Given the description of an element on the screen output the (x, y) to click on. 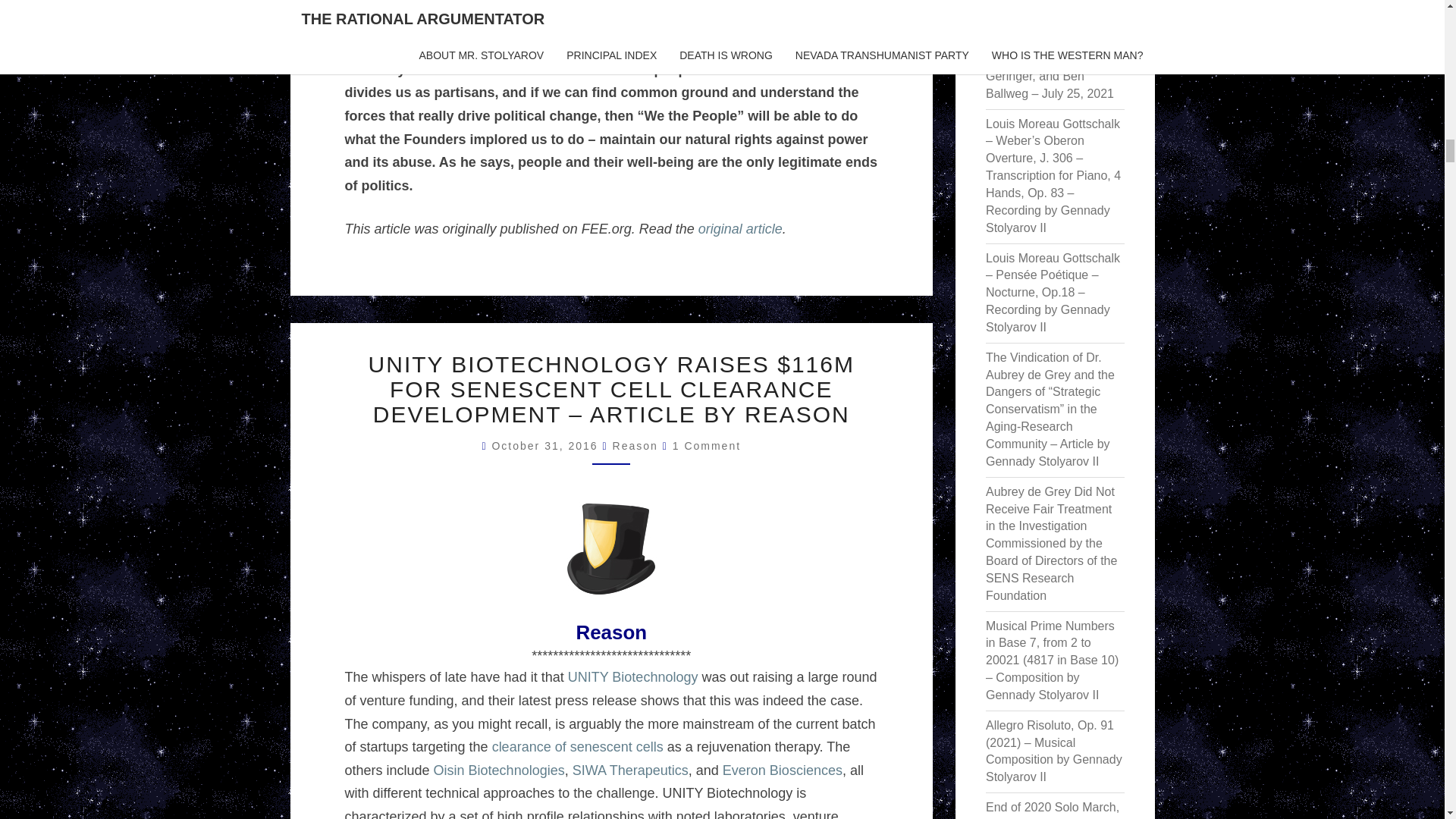
SIWA Therapeutics (630, 770)
Reason (635, 445)
original article (740, 228)
October 31, 2016 (547, 445)
12:36 AM (547, 445)
clearance of senescent cells (577, 746)
1 Comment (706, 445)
Everon Biosciences (782, 770)
View all posts by Reason (635, 445)
Oisin Biotechnologies (498, 770)
